Given the description of an element on the screen output the (x, y) to click on. 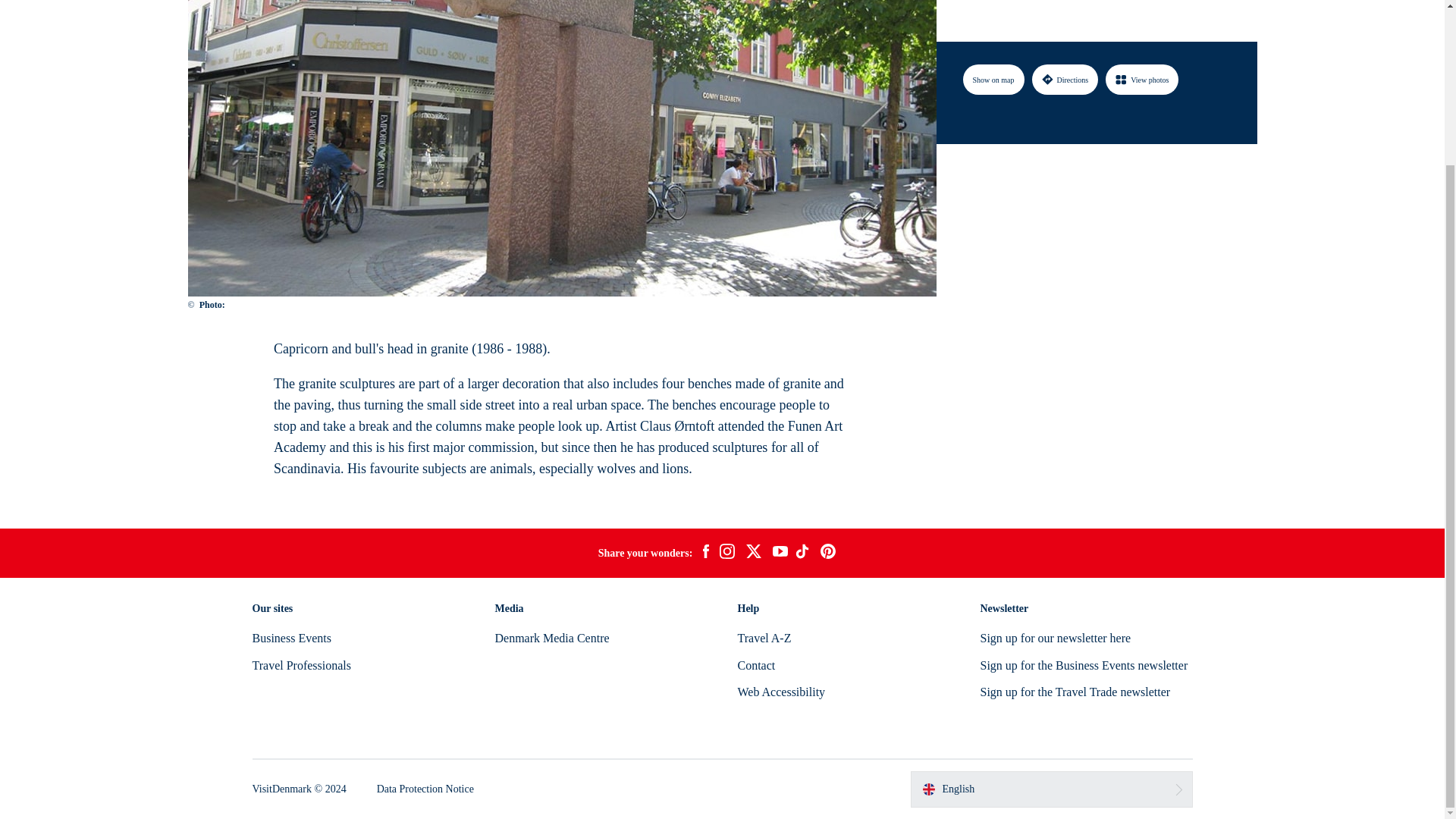
youtube (780, 553)
instagram (726, 553)
Data Protection Notice (425, 789)
Sign up for the Business Events newsletter (1083, 665)
Travel A-Z (763, 637)
Contact (755, 665)
Travel Professionals (300, 665)
Travel Professionals (300, 665)
Data Protection Notice (425, 789)
Directions (1063, 13)
